Given the description of an element on the screen output the (x, y) to click on. 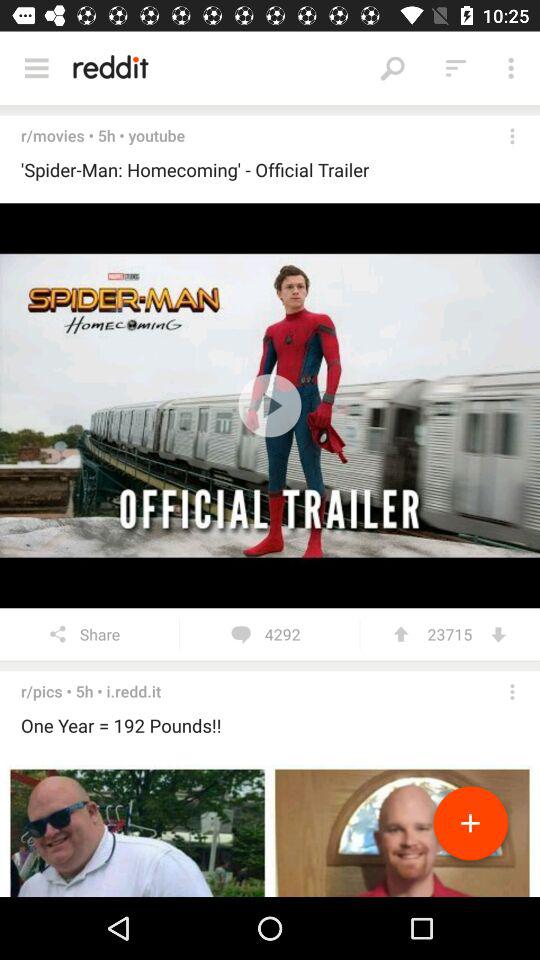
turn off icon next to 23715 item (498, 634)
